Given the description of an element on the screen output the (x, y) to click on. 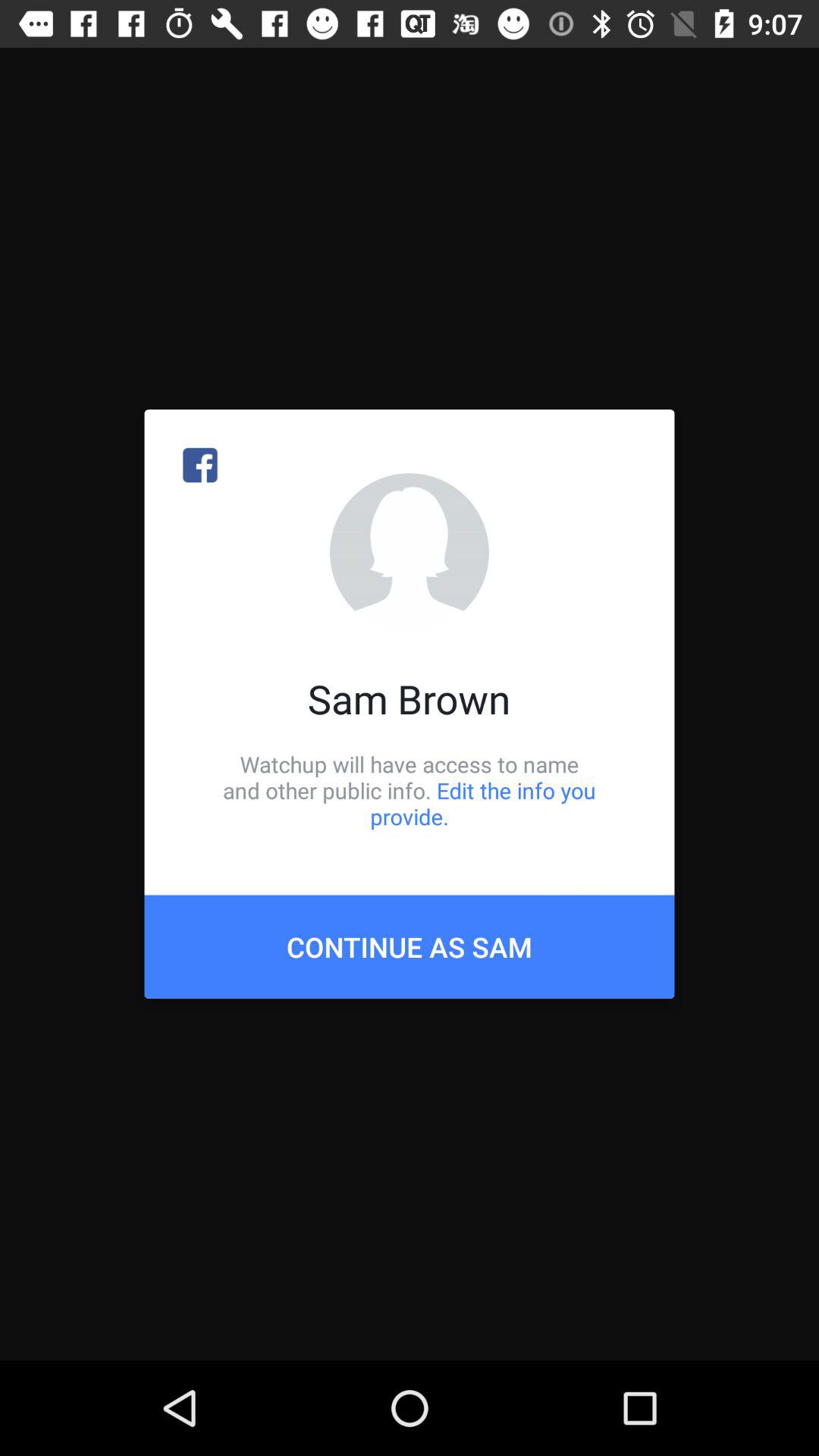
tap watchup will have item (409, 790)
